Given the description of an element on the screen output the (x, y) to click on. 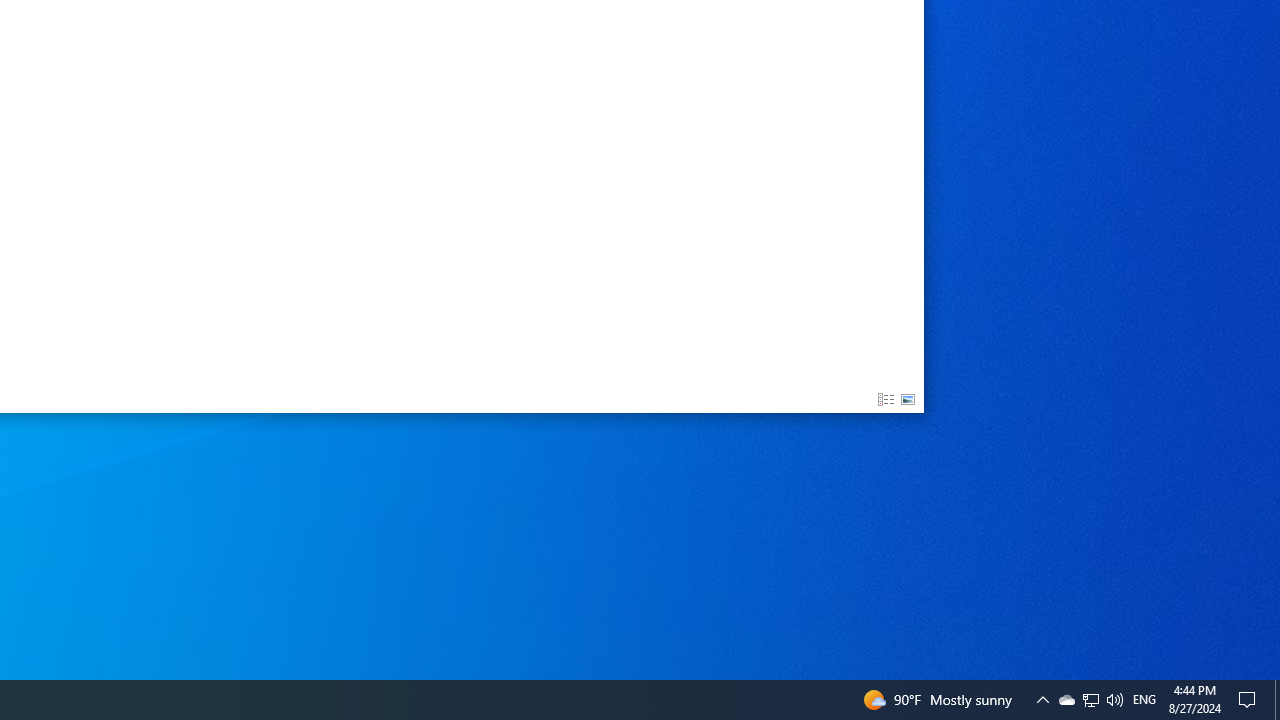
Large Icons (908, 399)
Details (886, 399)
